Given the description of an element on the screen output the (x, y) to click on. 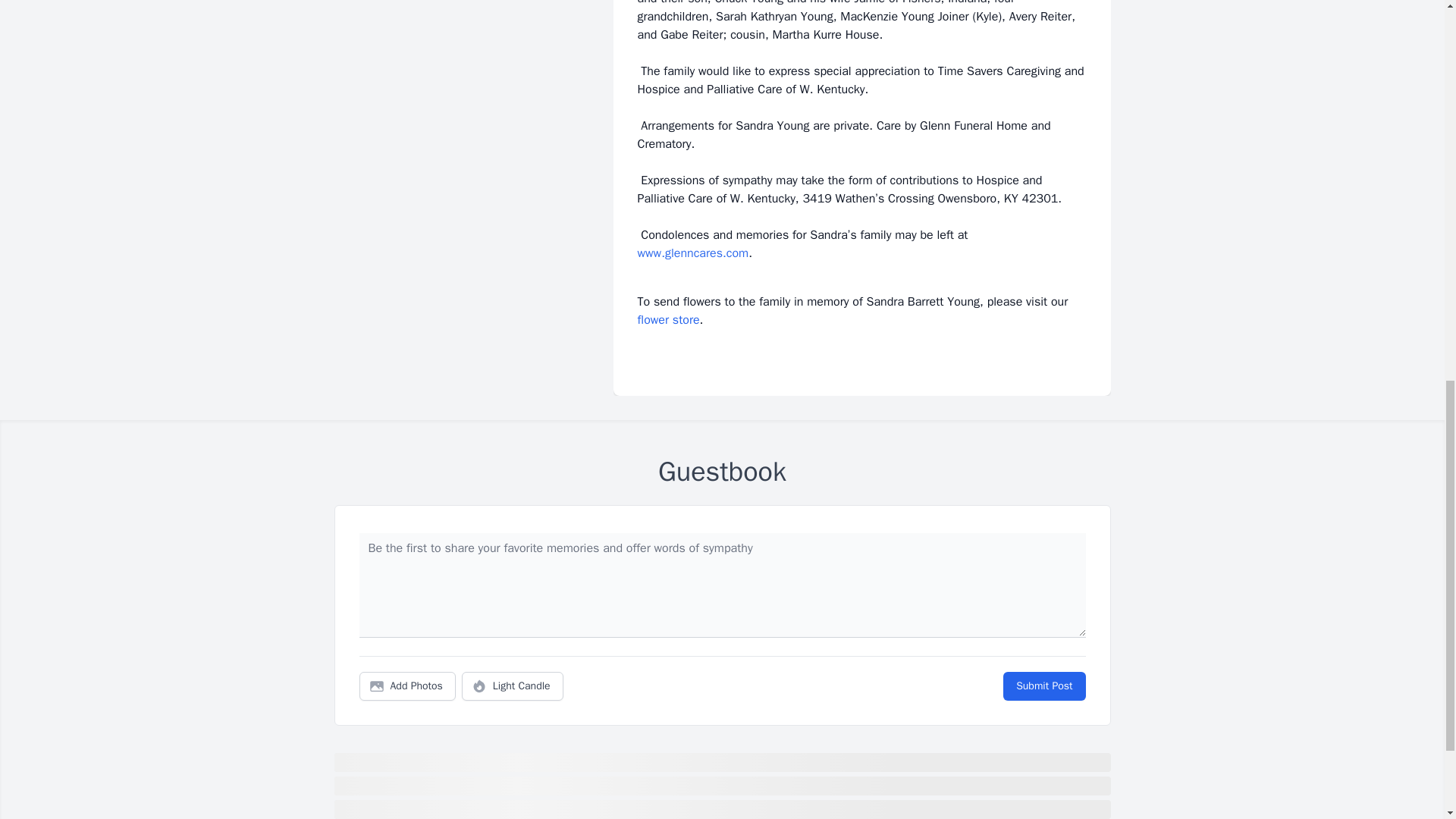
Submit Post (1043, 686)
Light Candle (512, 686)
www.glenncares.com (692, 253)
Add Photos (407, 686)
flower store (667, 319)
